Given the description of an element on the screen output the (x, y) to click on. 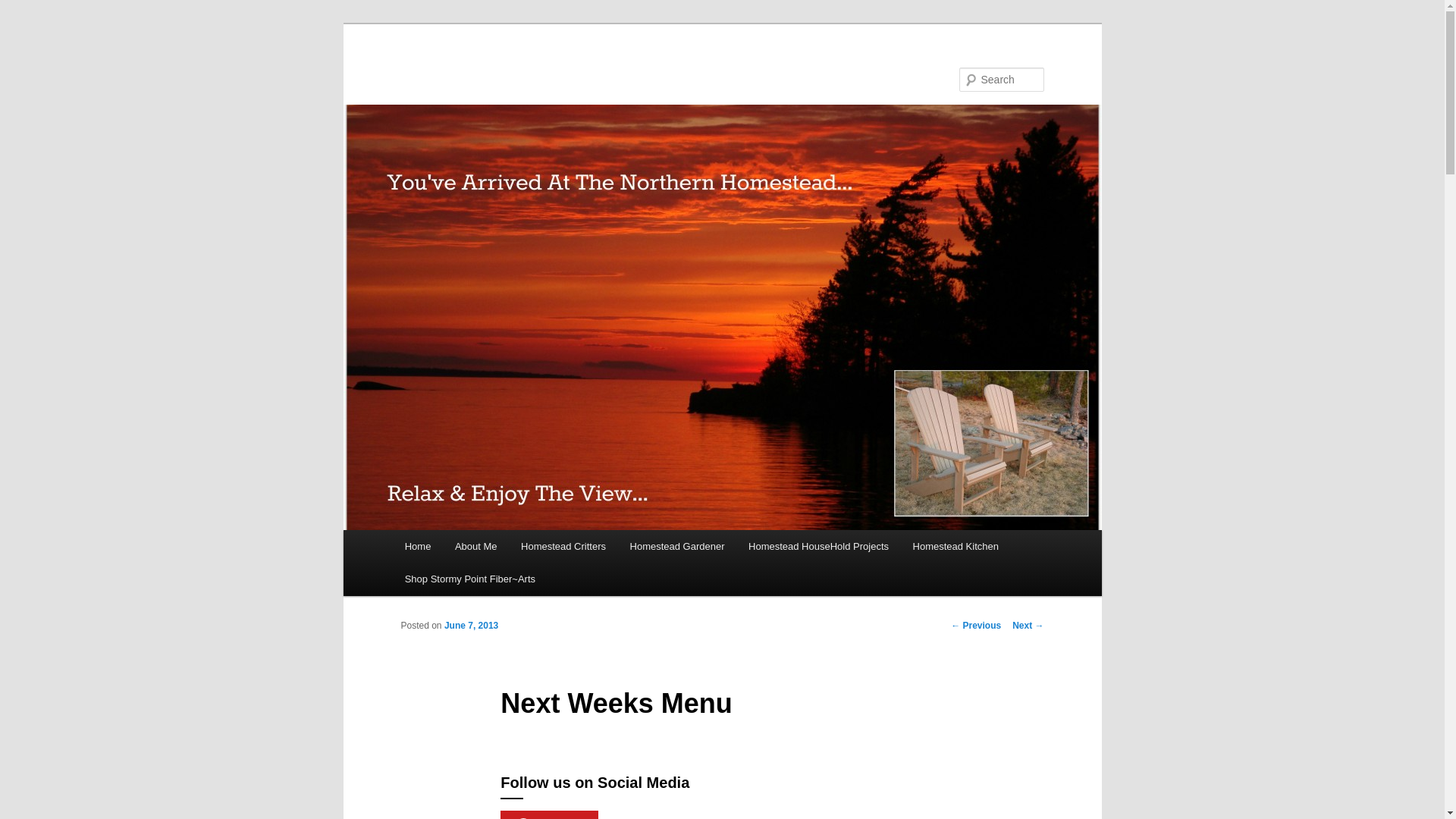
Homestead Critters (562, 545)
Homestead HouseHold Projects (817, 545)
Homestead Gardener (676, 545)
Home (417, 545)
About Me (475, 545)
7:00 am (470, 624)
Homestead Kitchen (955, 545)
Search (24, 8)
